Given the description of an element on the screen output the (x, y) to click on. 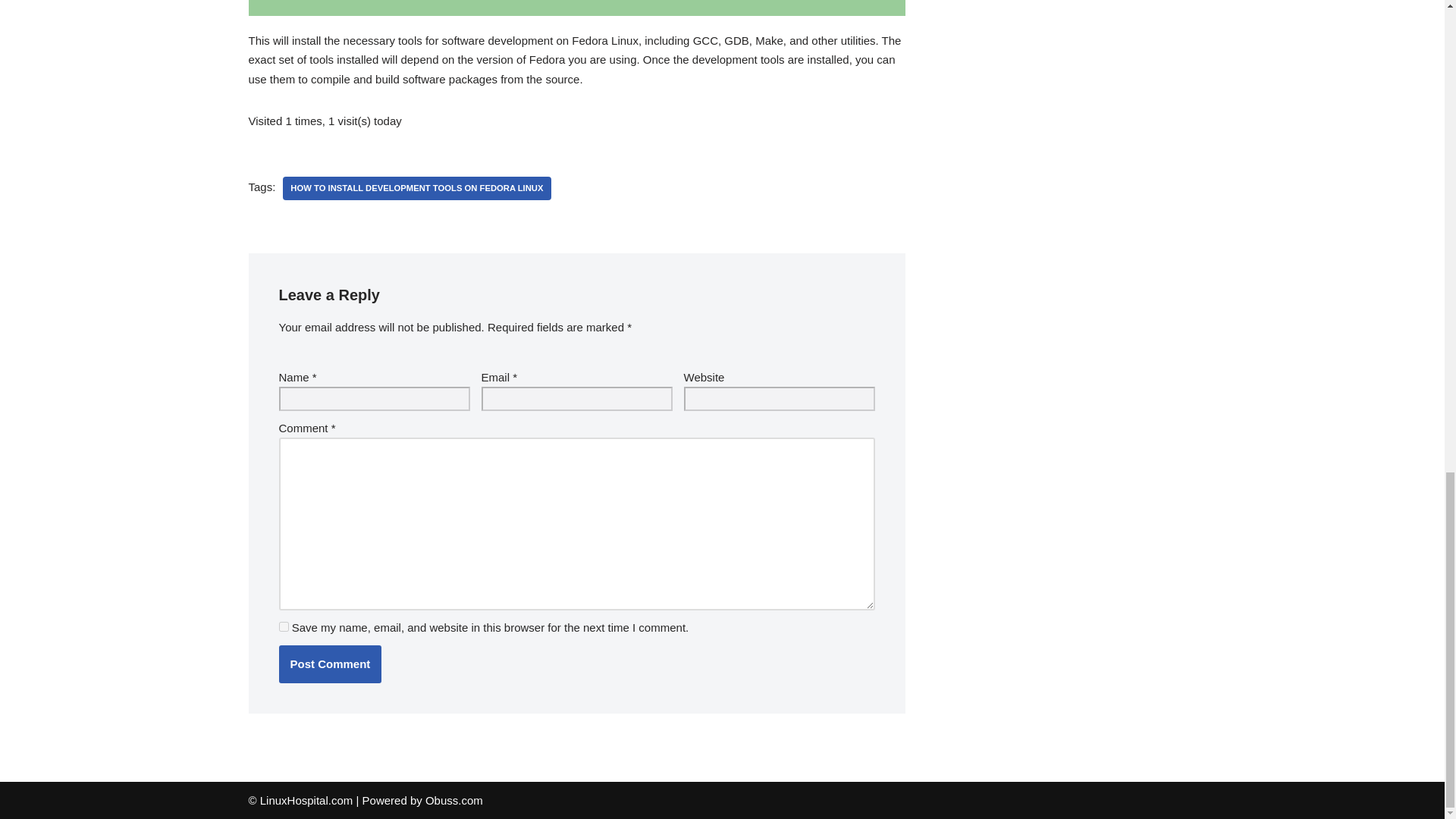
Post Comment (330, 664)
how to install development tools on fedora linux (416, 187)
yes (283, 626)
